Given the description of an element on the screen output the (x, y) to click on. 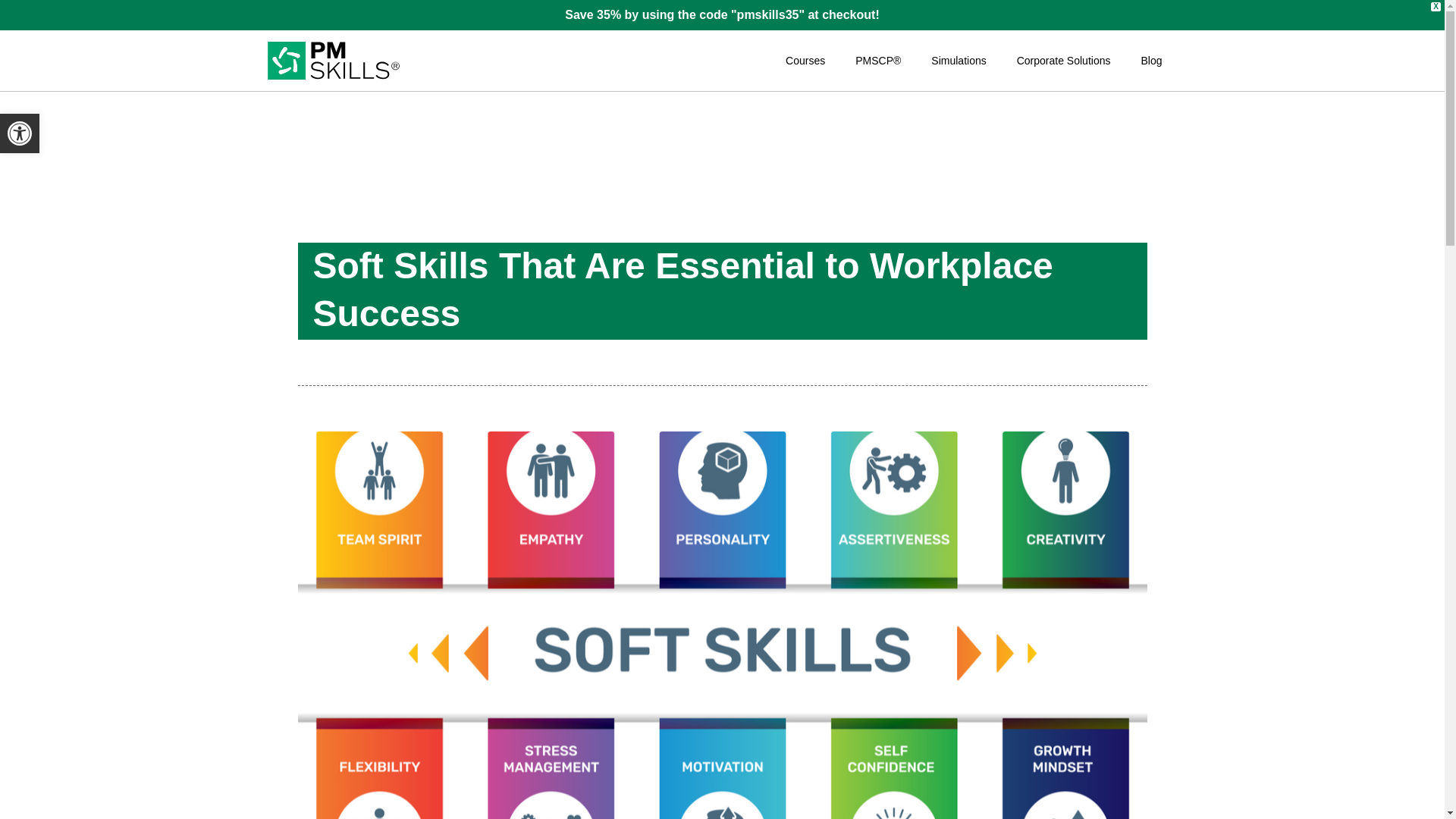
Corporate Solutions (1063, 60)
Simulations (958, 60)
Accessibility Tools (19, 133)
Blog (1150, 60)
